Given the description of an element on the screen output the (x, y) to click on. 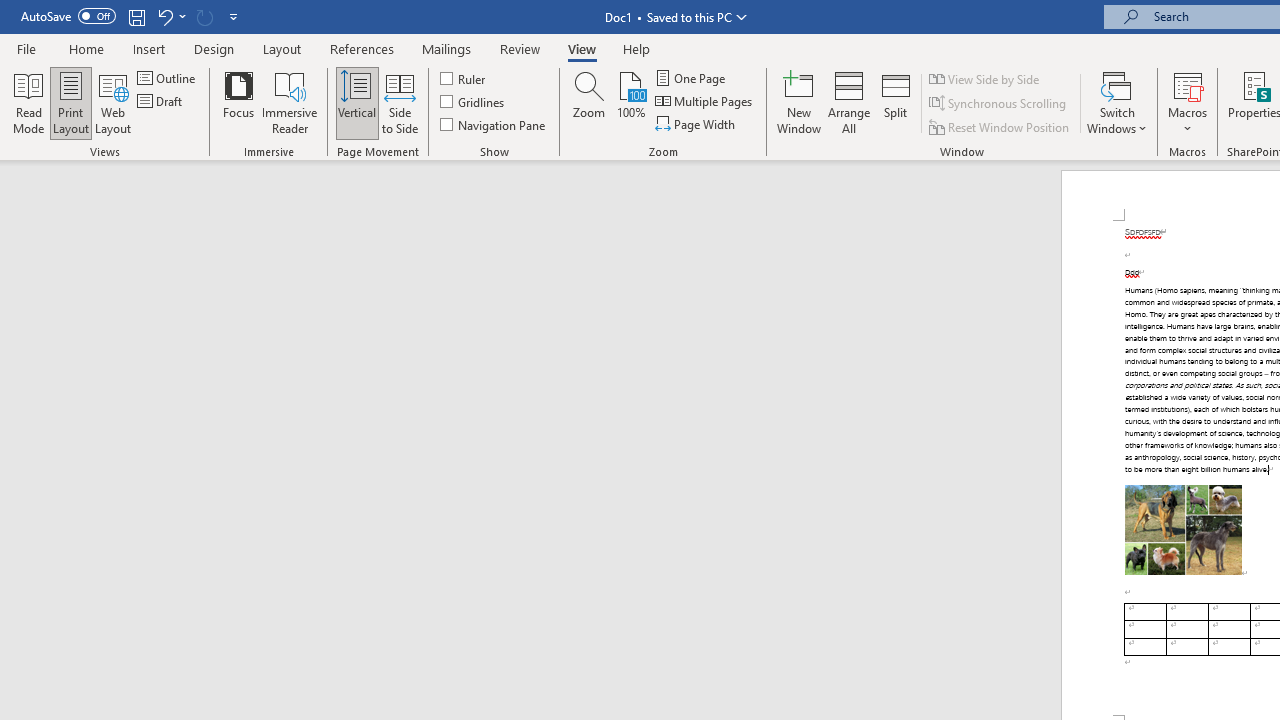
Page Width (696, 124)
Reset Window Position (1000, 126)
